Given the description of an element on the screen output the (x, y) to click on. 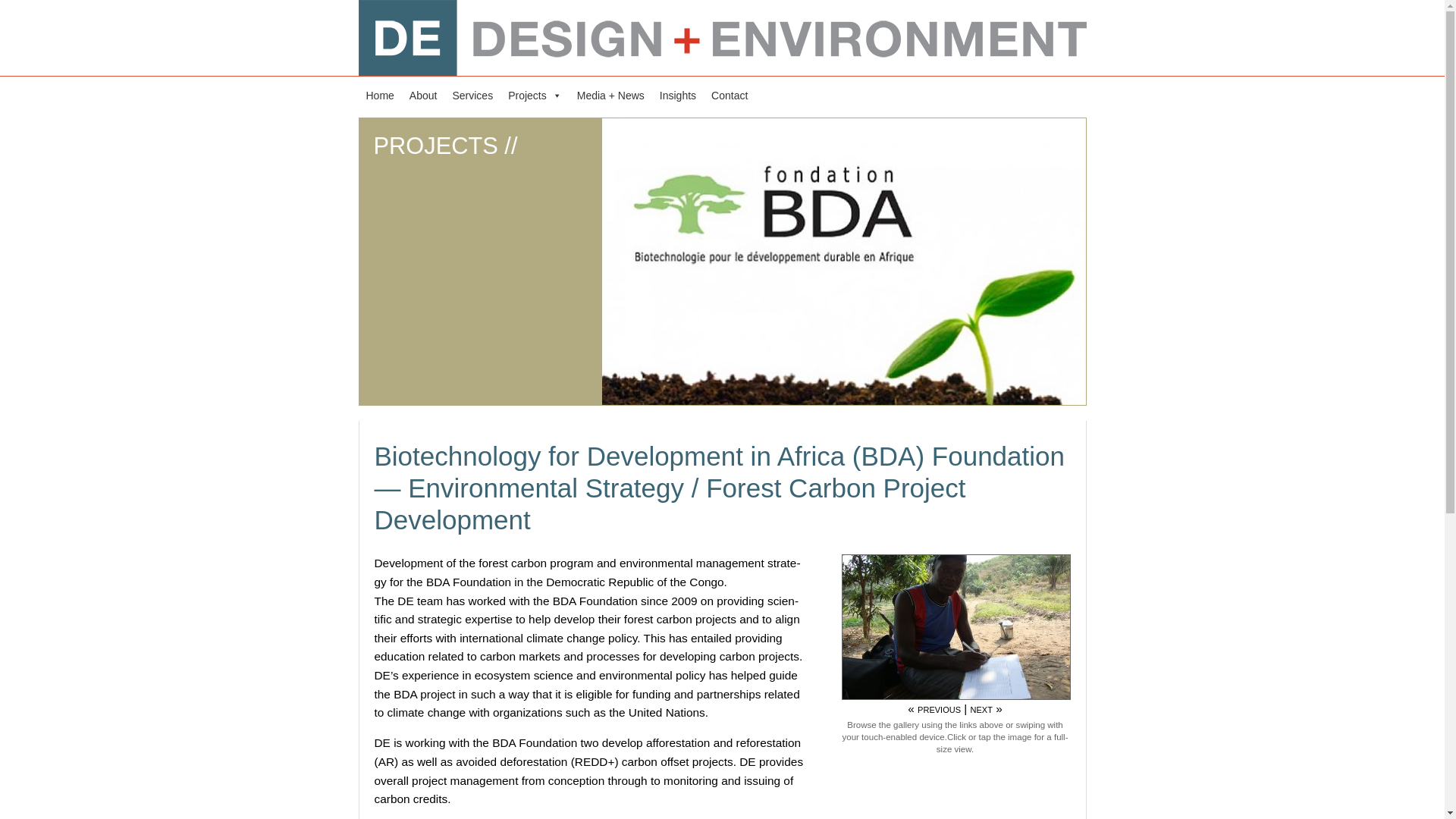
About (423, 95)
Insights (677, 95)
Contact (729, 95)
Home (379, 95)
Projects (534, 95)
Services (472, 95)
